Given the description of an element on the screen output the (x, y) to click on. 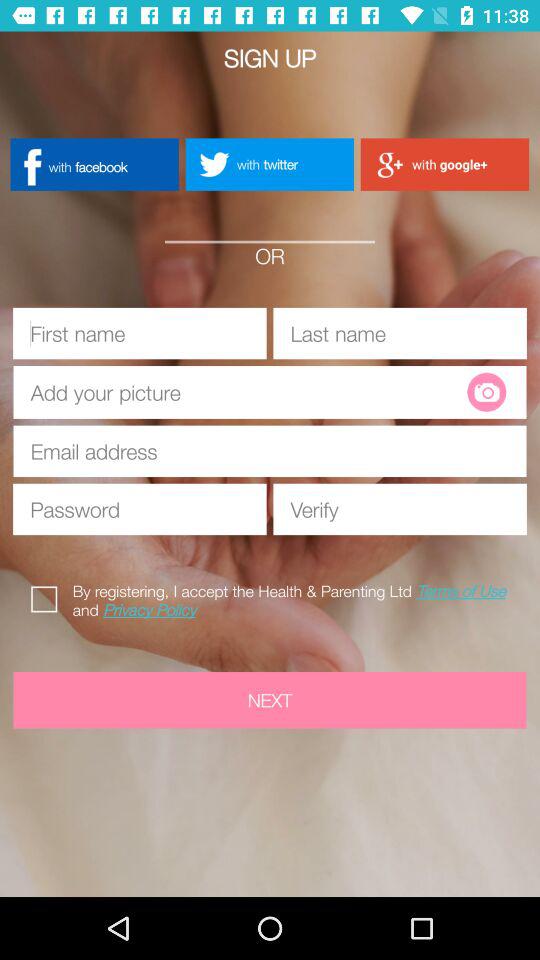
launch the app below the sign up item (94, 164)
